Given the description of an element on the screen output the (x, y) to click on. 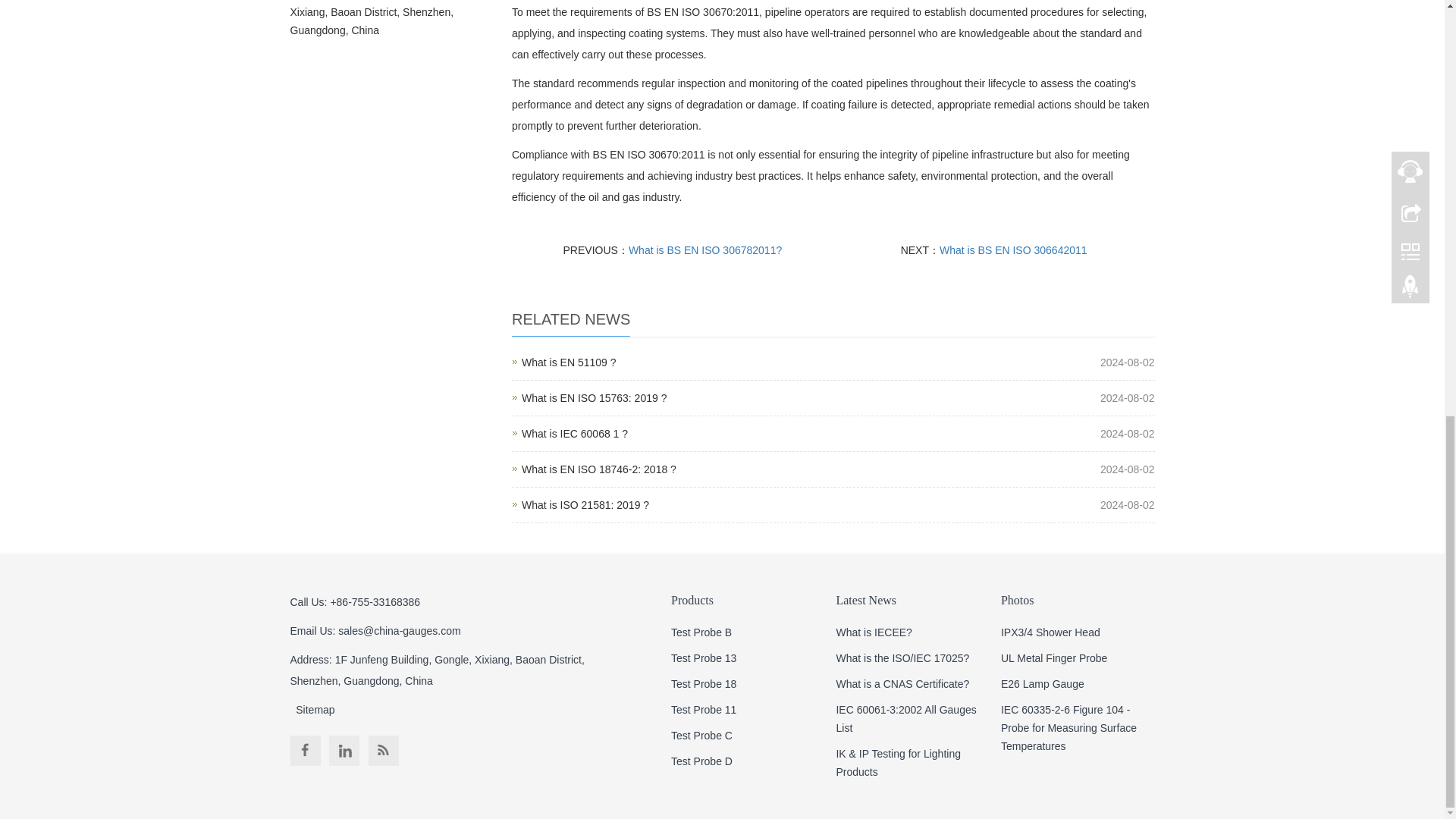
What is BS EN ISO 306642011 (574, 433)
What is BS EN ISO 306782011? (599, 469)
What is EN 51109 ? (1013, 250)
What is EN ISO 15763: 2019 ? (568, 362)
